Given the description of an element on the screen output the (x, y) to click on. 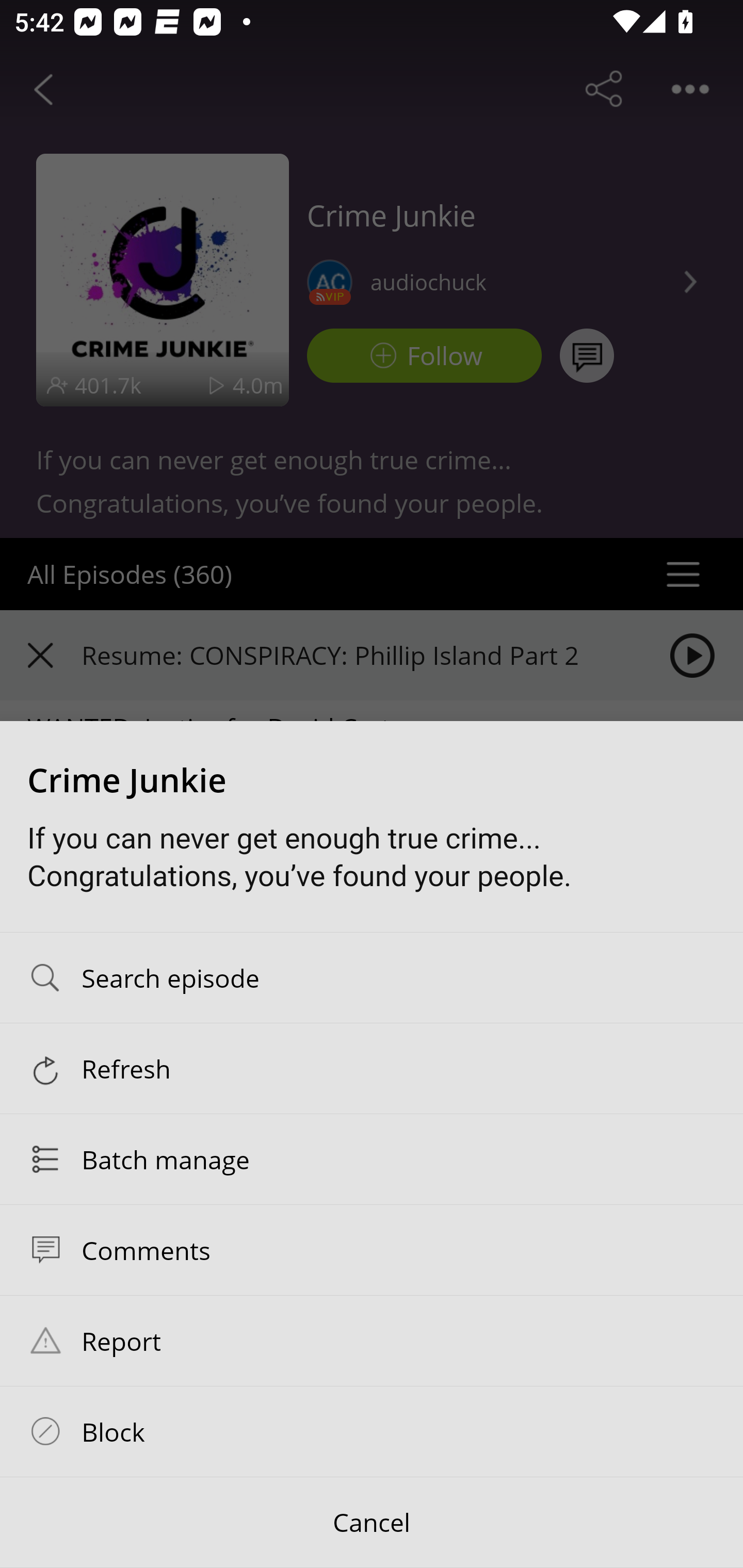
Search episode (371, 977)
Refresh (371, 1068)
Batch manage (371, 1159)
Comments (371, 1249)
Report (371, 1340)
Block (371, 1431)
Cancel (371, 1522)
